Given the description of an element on the screen output the (x, y) to click on. 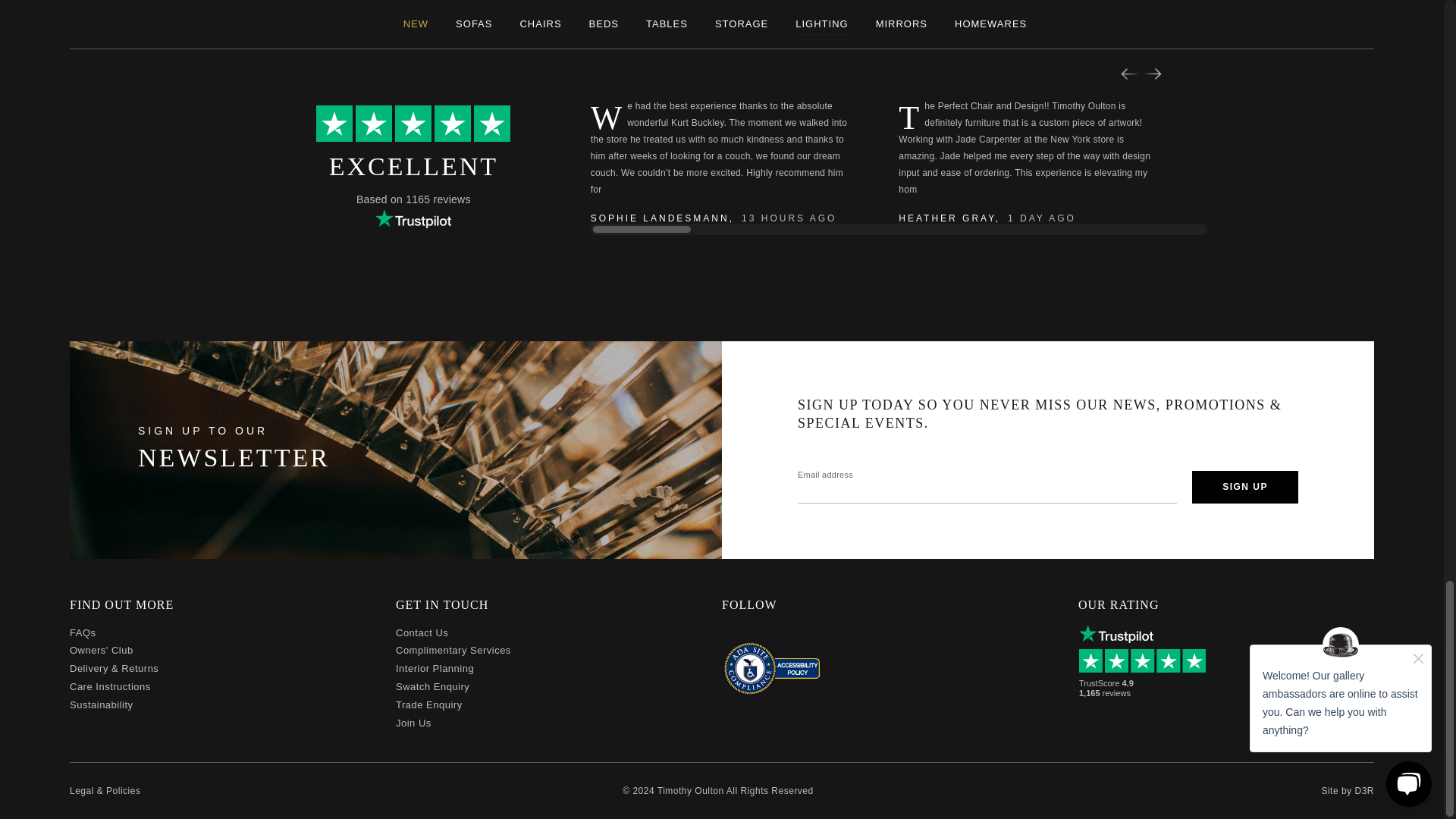
Customer reviews powered by Trustpilot (1146, 662)
